Given the description of an element on the screen output the (x, y) to click on. 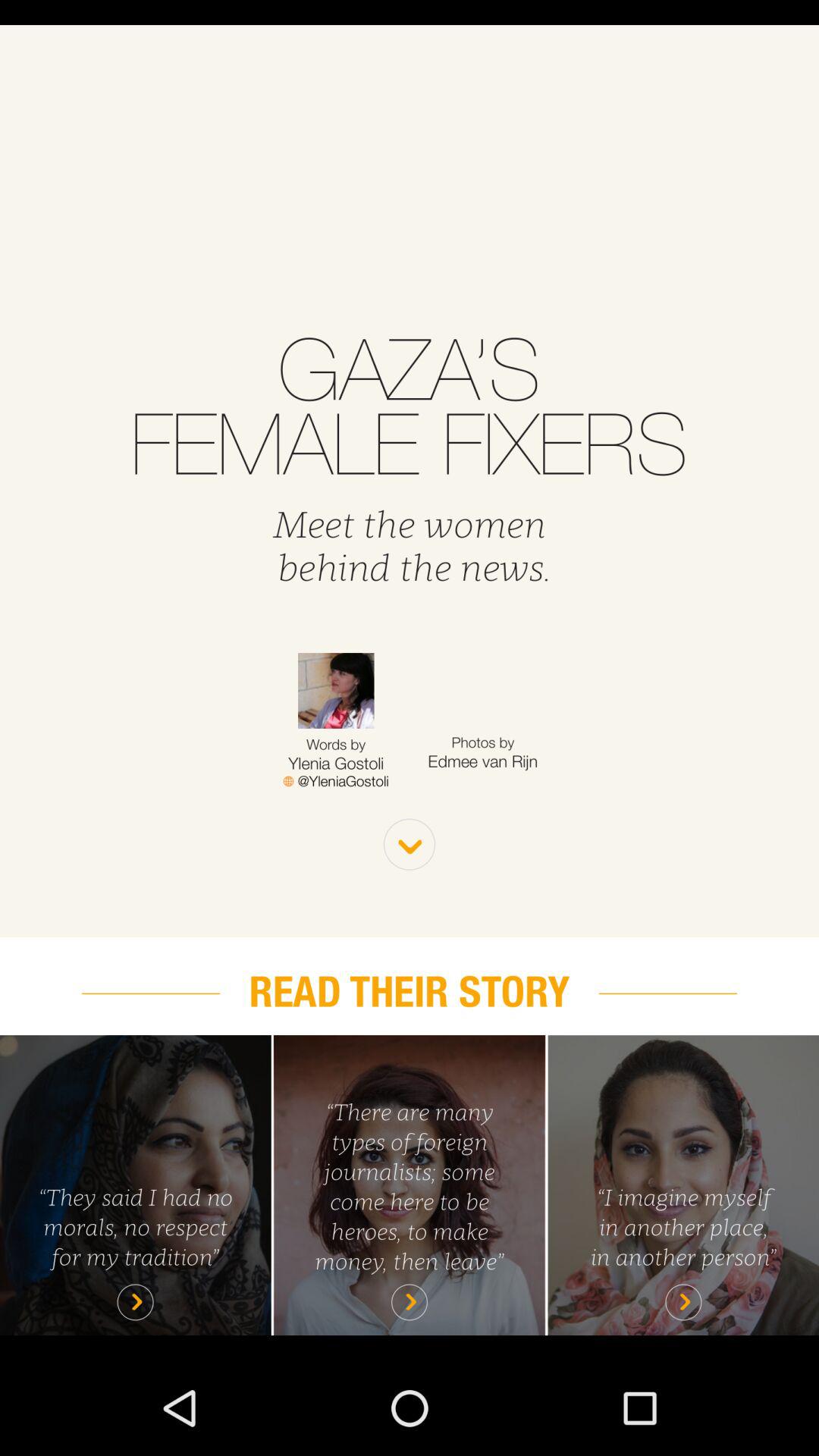
click to read story (409, 1184)
